Given the description of an element on the screen output the (x, y) to click on. 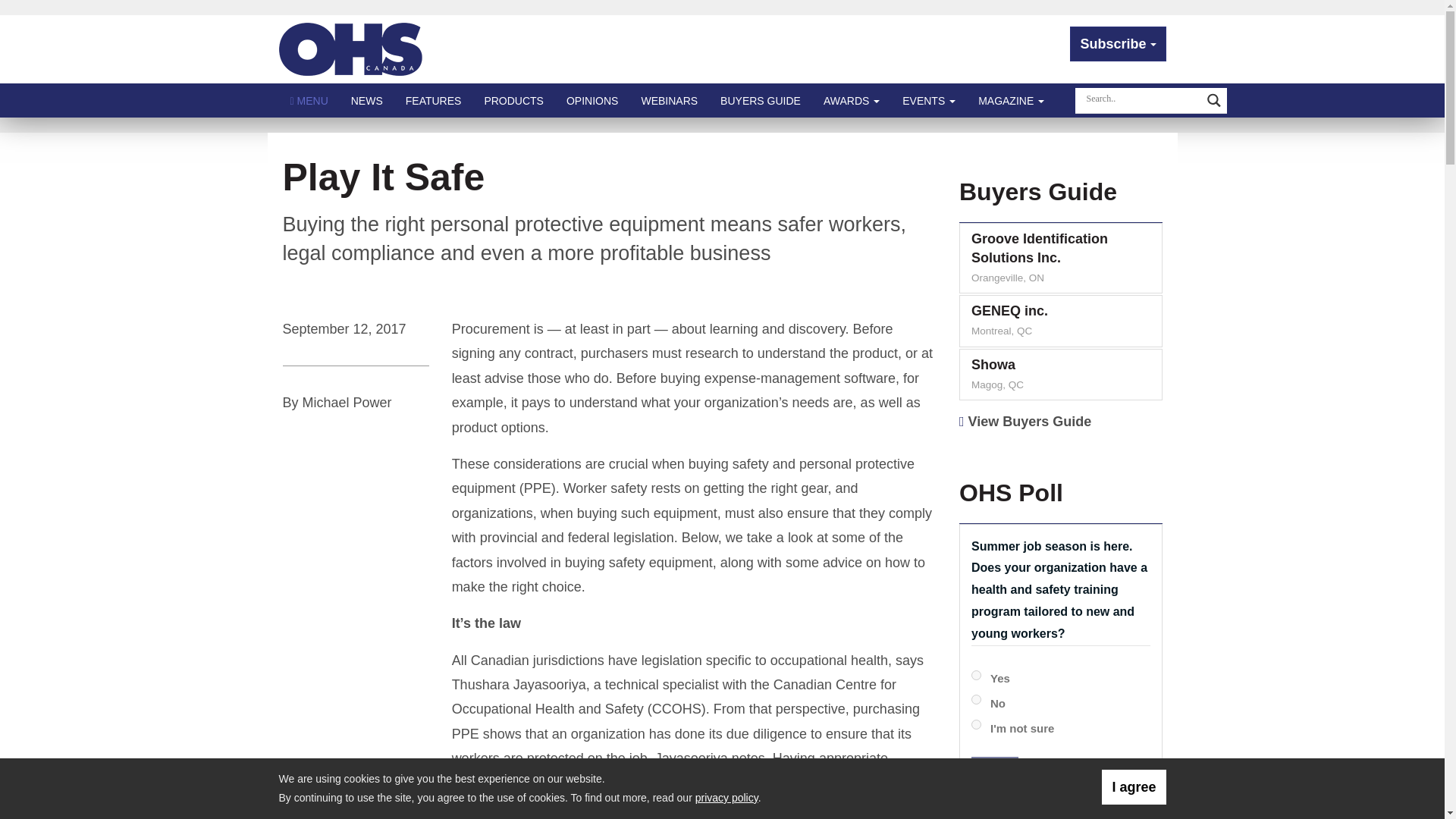
Click to show site navigation (309, 100)
OHS Canada Magazine (351, 48)
Vote (994, 773)
MAGAZINE (1010, 100)
BUYERS GUIDE (760, 100)
EVENTS (928, 100)
WEBINARS (668, 100)
FEATURES (433, 100)
gpoll141fdf755 (976, 724)
gpoll135233128 (976, 675)
